Given the description of an element on the screen output the (x, y) to click on. 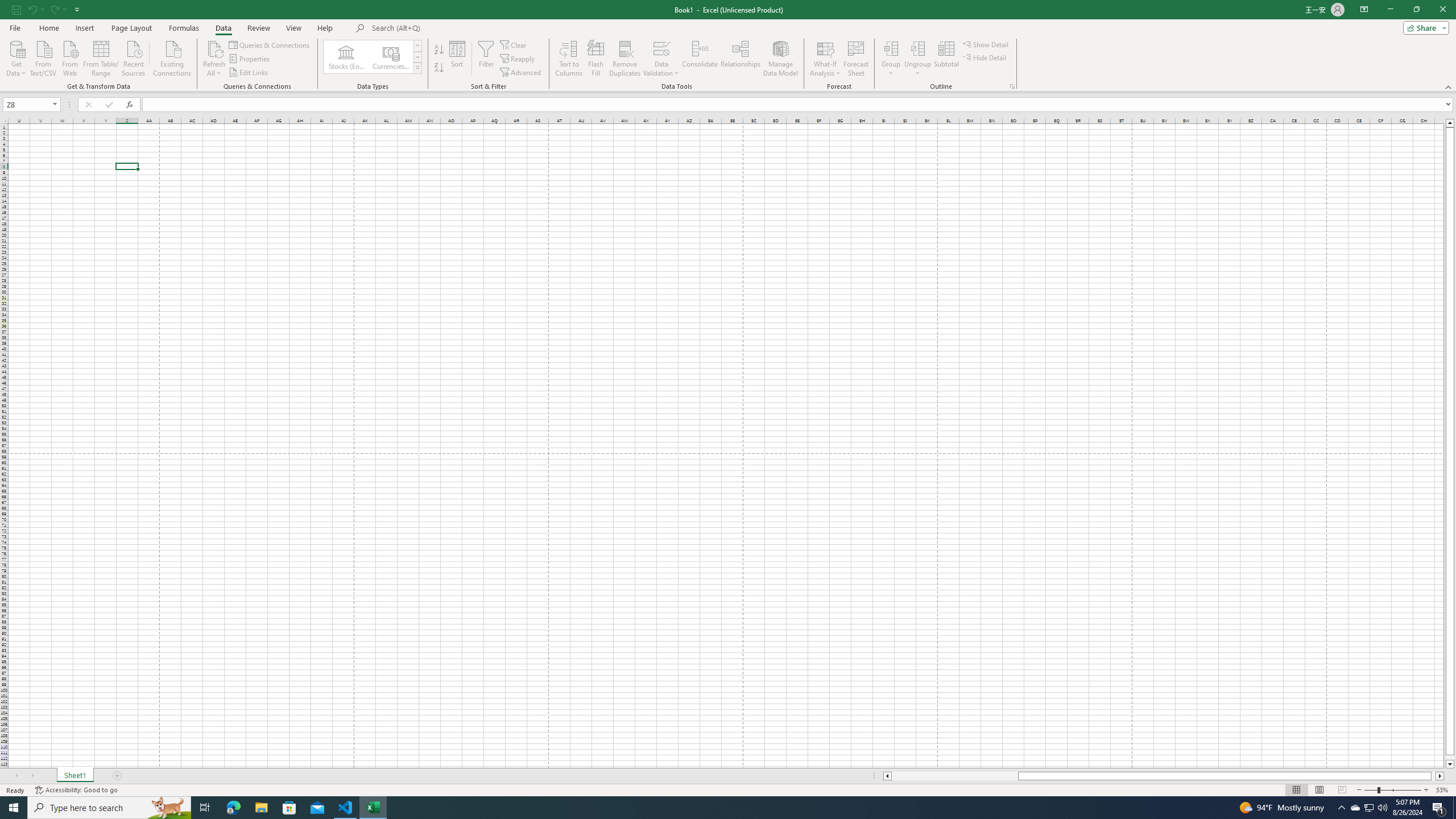
Row Down (417, 56)
Refresh All (214, 48)
Page down (1449, 757)
Existing Connections (171, 57)
Review (258, 28)
From Web (69, 57)
Column right (1440, 775)
Edit Links (249, 72)
From Table/Range (100, 57)
